Given the description of an element on the screen output the (x, y) to click on. 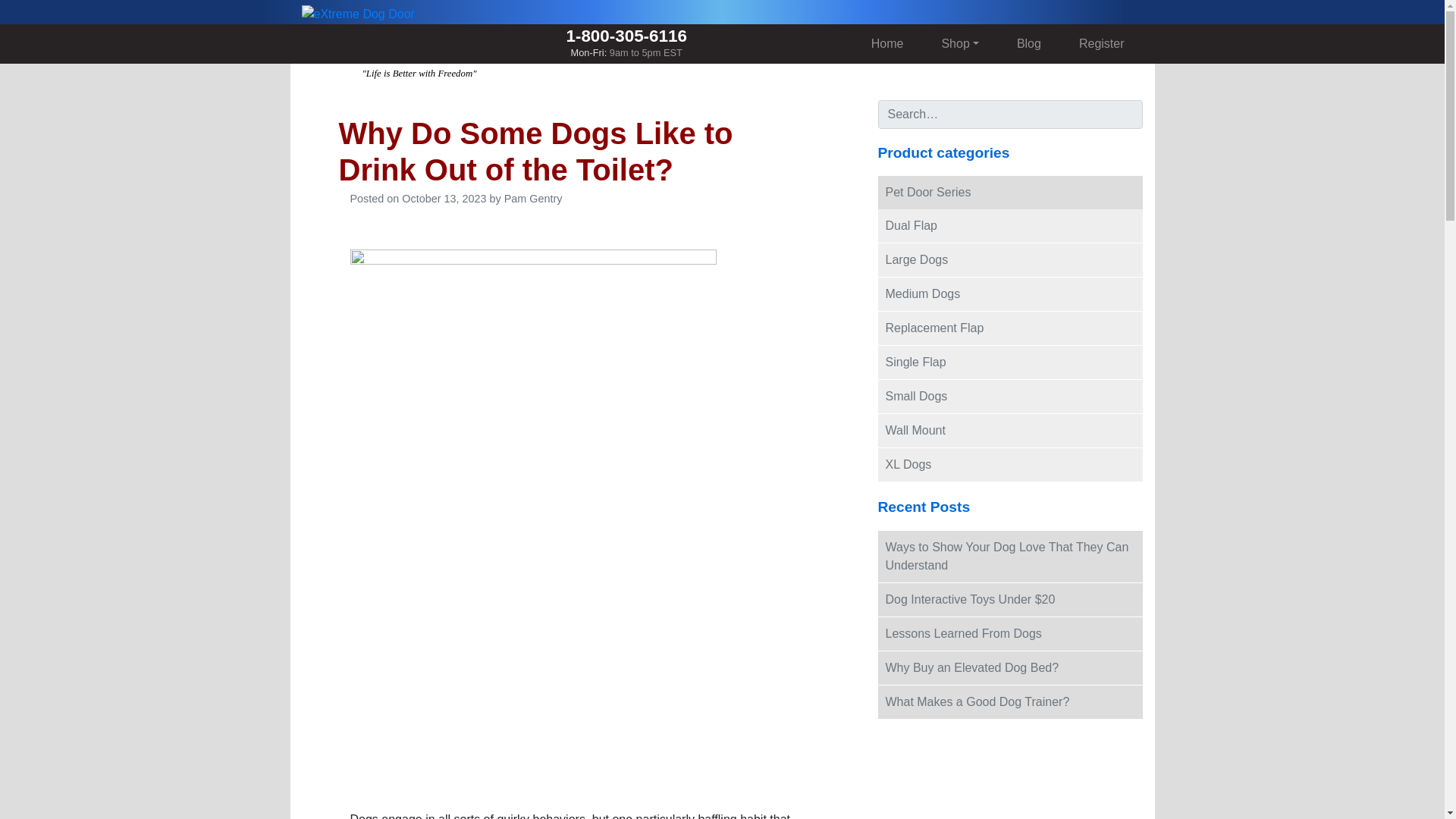
Pam Gentry (532, 198)
Shop (959, 43)
XL Dogs (1009, 464)
Single Flap (1009, 362)
Small Dogs (1009, 396)
Ways to Show Your Dog Love That They Can Understand (1009, 556)
Lessons Learned From Dogs (1009, 633)
Dual Flap (1009, 225)
Replacement Flap (1009, 328)
Home (887, 43)
